Given the description of an element on the screen output the (x, y) to click on. 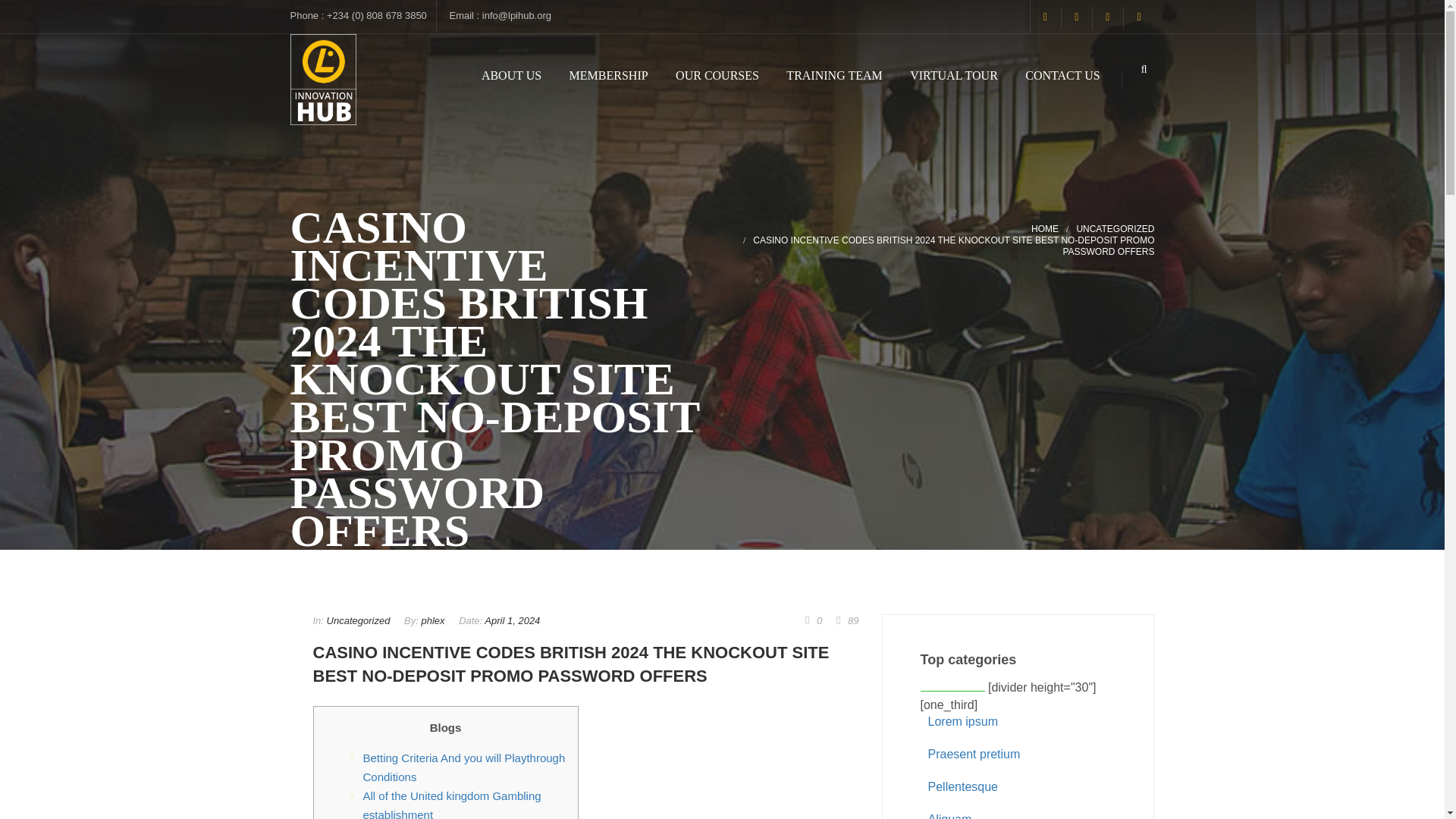
TRAINING TEAM (834, 75)
0 (813, 620)
April 1, 2024 (512, 620)
OUR COURSES (716, 75)
ABOUT US (511, 75)
Betting Criteria And you will Playthrough Conditions (463, 766)
Uncategorized (358, 620)
Posts by phlex (432, 620)
MEMBERSHIP (608, 75)
Uncategorized (1114, 228)
